Given the description of an element on the screen output the (x, y) to click on. 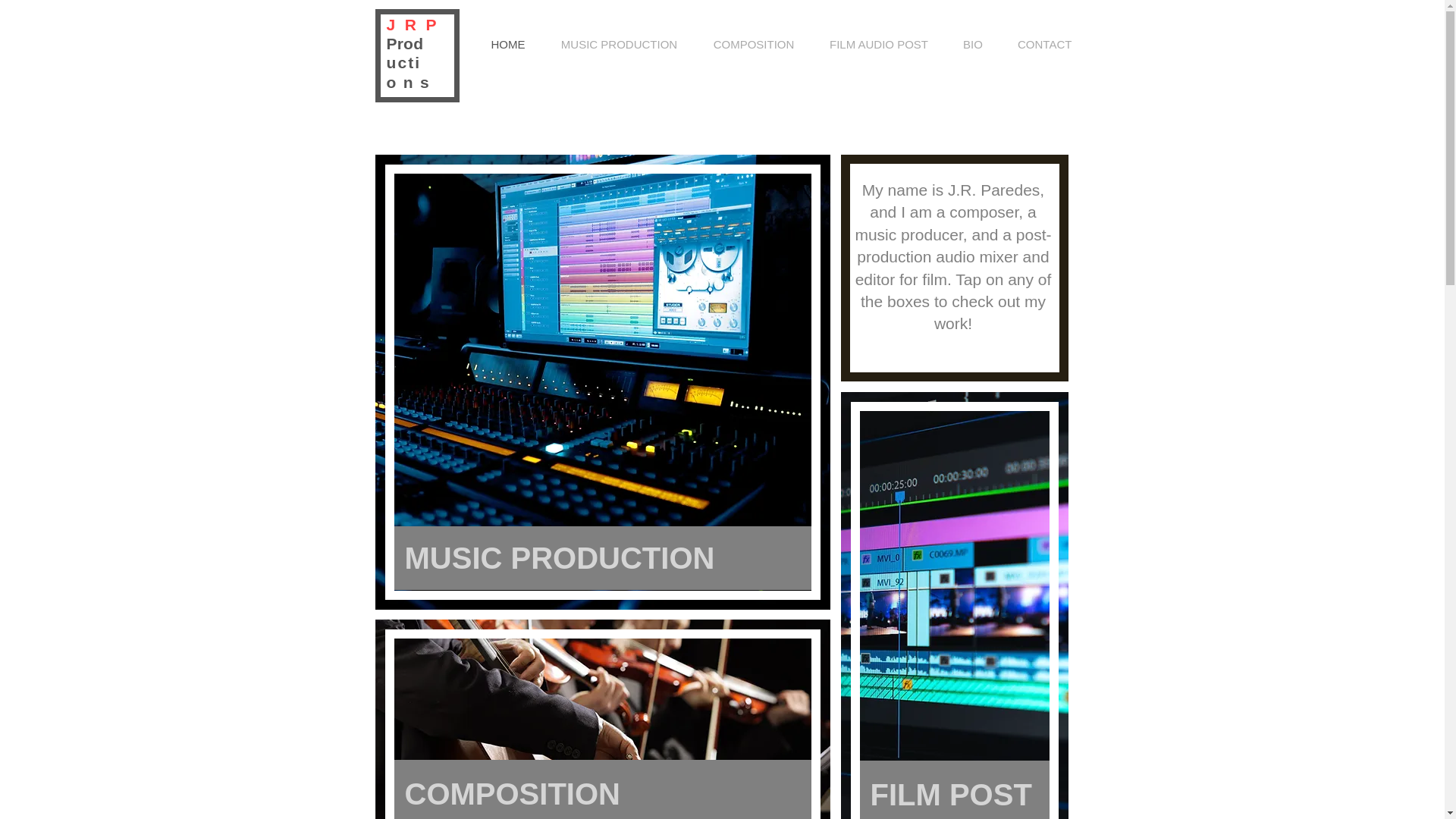
CONTACT (1044, 44)
HOME (508, 44)
FILM AUDIO POST (878, 44)
BIO (972, 44)
FILM POST (954, 789)
MUSIC PRODUCTION (619, 44)
COMPOSITION (602, 789)
COMPOSITION (753, 44)
MUSIC PRODUCTION (602, 557)
